Given the description of an element on the screen output the (x, y) to click on. 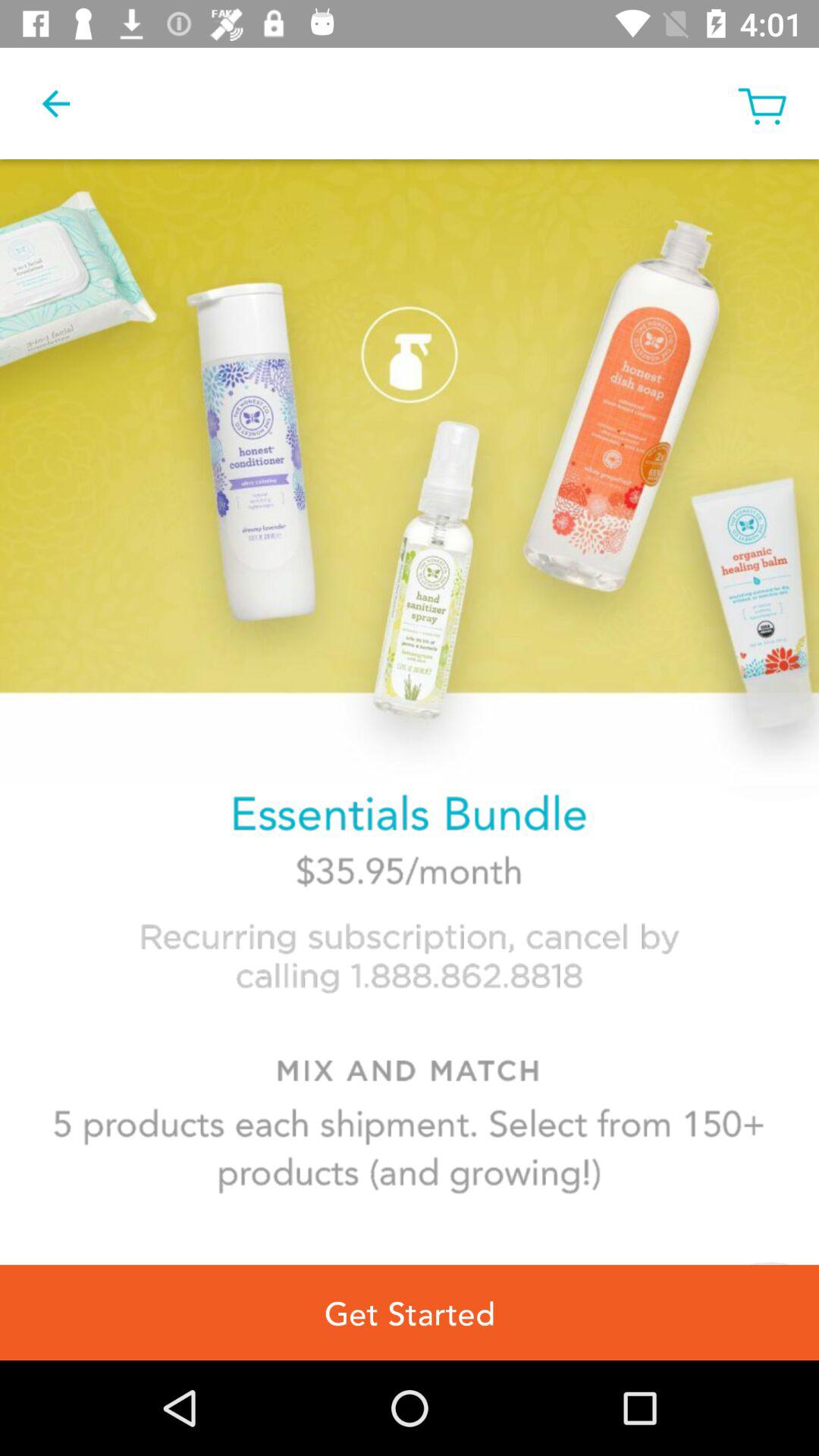
turn on the icon at the top left corner (55, 103)
